Given the description of an element on the screen output the (x, y) to click on. 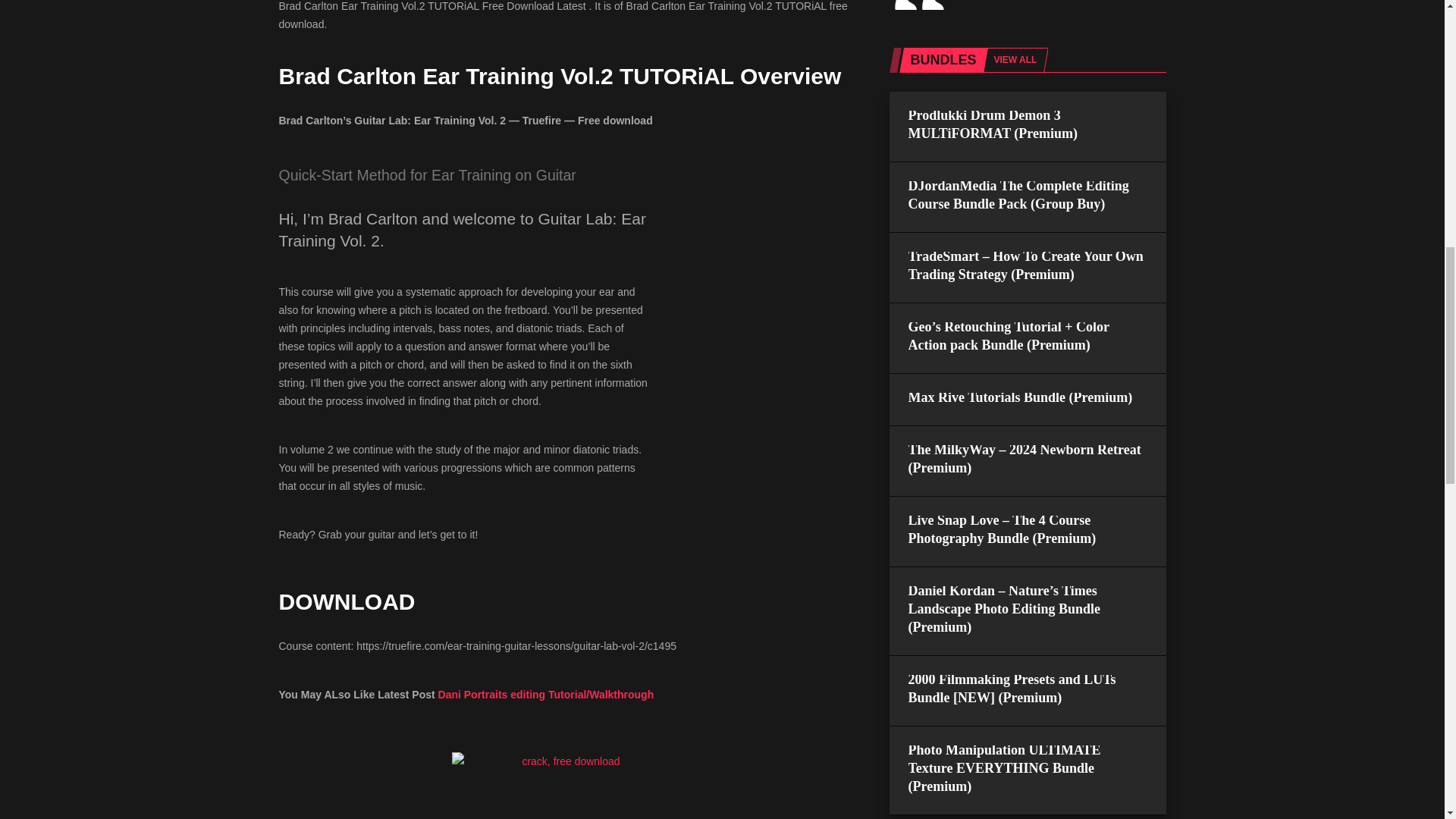
Search (1016, 396)
